Given the description of an element on the screen output the (x, y) to click on. 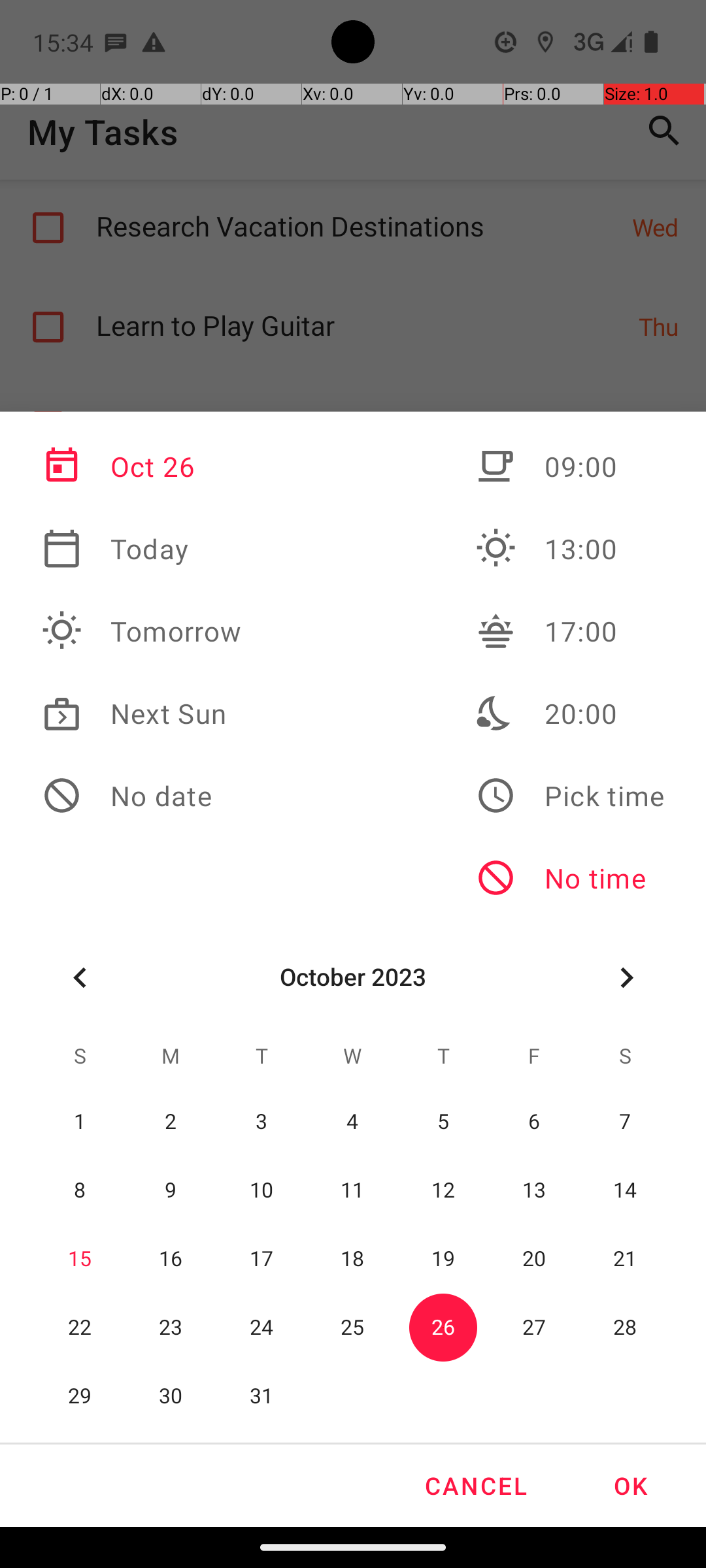
Oct 26 Element type: android.widget.CompoundButton (141, 466)
Tomorrow Element type: android.widget.CompoundButton (141, 630)
Next Sun Element type: android.widget.CompoundButton (141, 713)
No date Element type: android.widget.CompoundButton (141, 795)
20:00 Element type: android.widget.CompoundButton (569, 713)
No time Element type: android.widget.CompoundButton (569, 877)
